Given the description of an element on the screen output the (x, y) to click on. 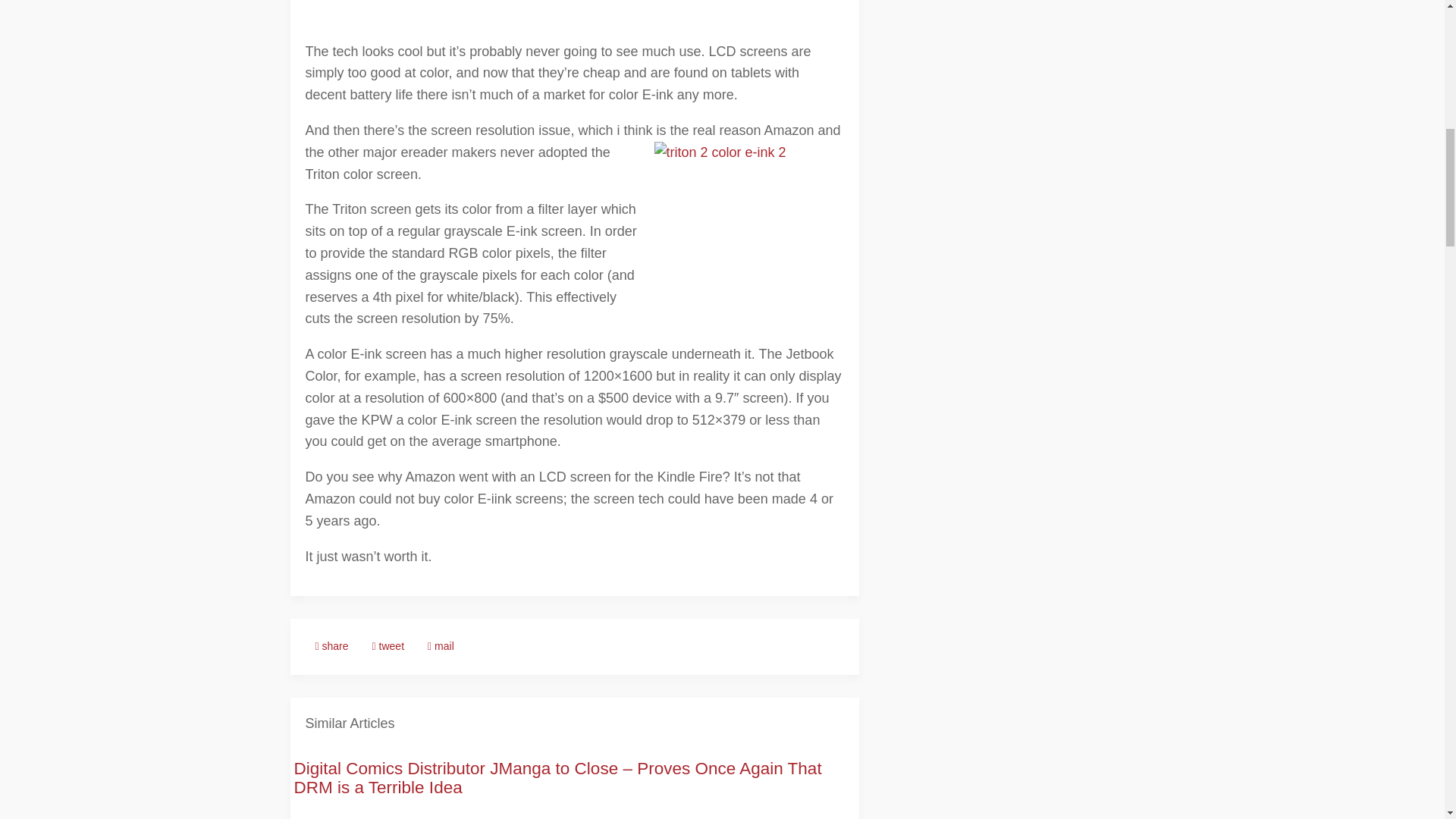
share (331, 646)
tweet (387, 646)
mail (440, 646)
